Given the description of an element on the screen output the (x, y) to click on. 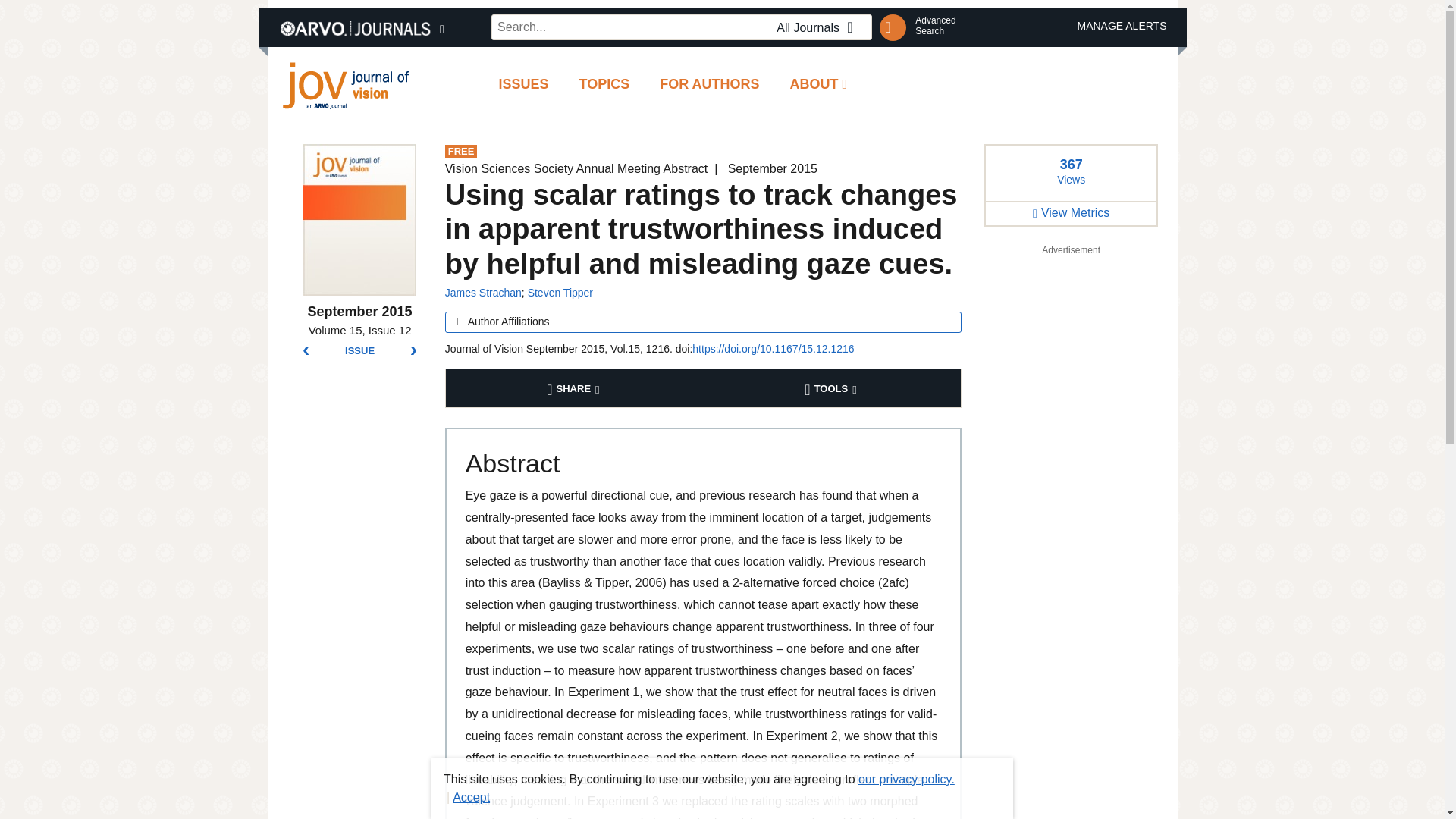
ISSUES (523, 84)
ISSUE (359, 350)
James Strachan (483, 292)
All Journals (819, 27)
SHARE (935, 25)
FOR AUTHORS (574, 388)
TOPICS (709, 84)
ABOUT (604, 84)
Steven Tipper (818, 84)
